Given the description of an element on the screen output the (x, y) to click on. 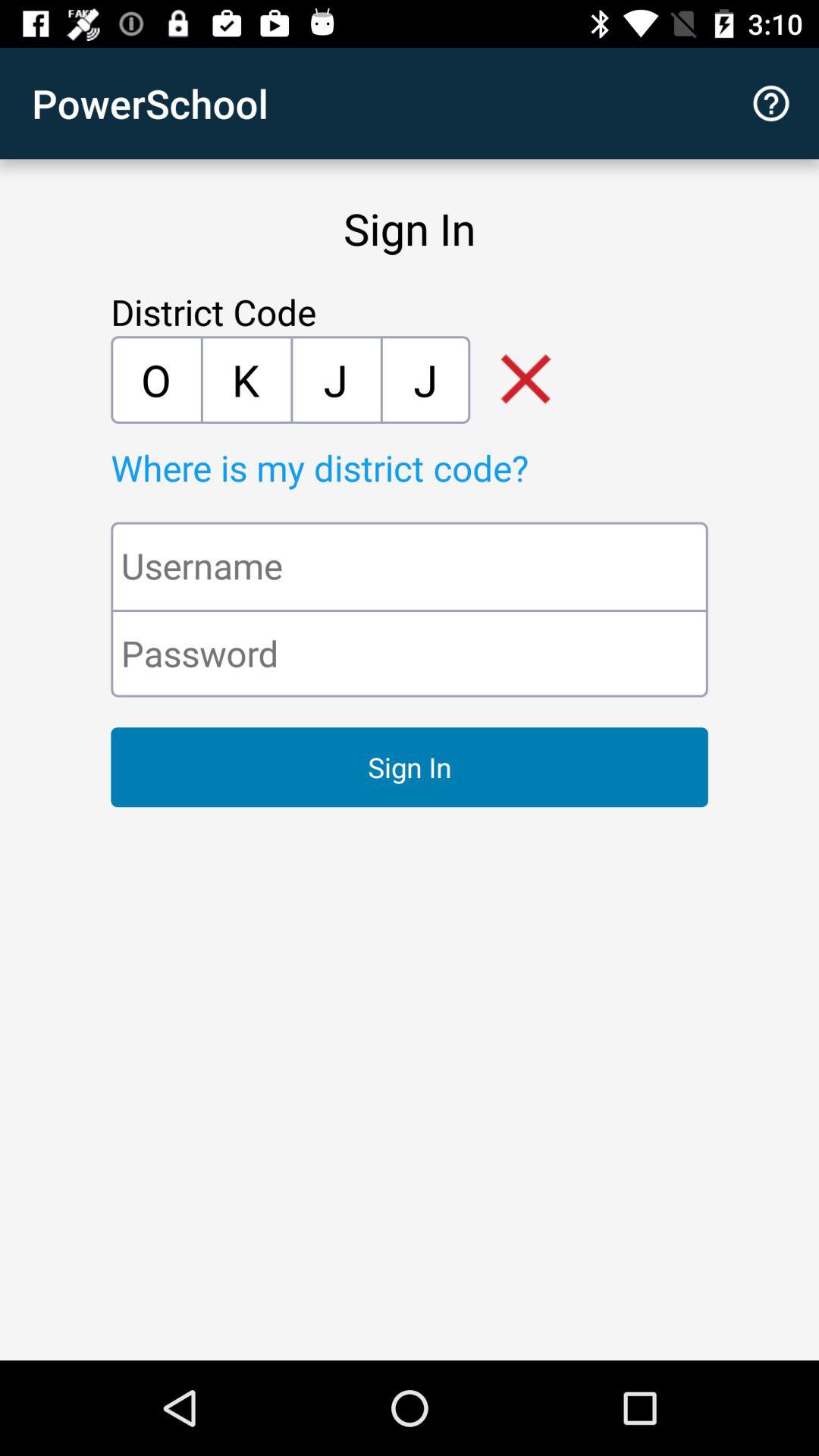
tap icon above the where is my item (245, 379)
